Given the description of an element on the screen output the (x, y) to click on. 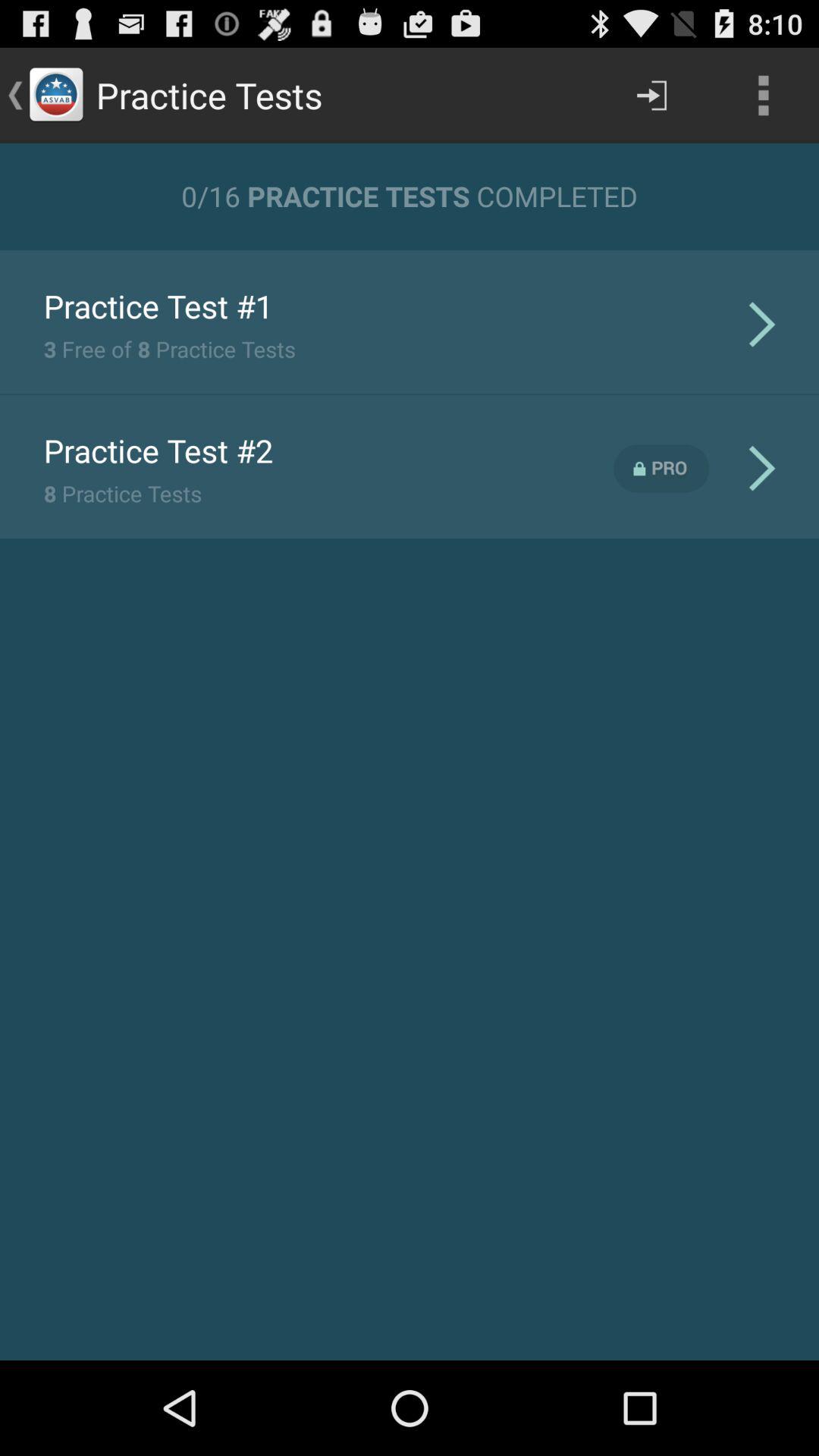
open app to the right of the practice test #2 icon (661, 468)
